Given the description of an element on the screen output the (x, y) to click on. 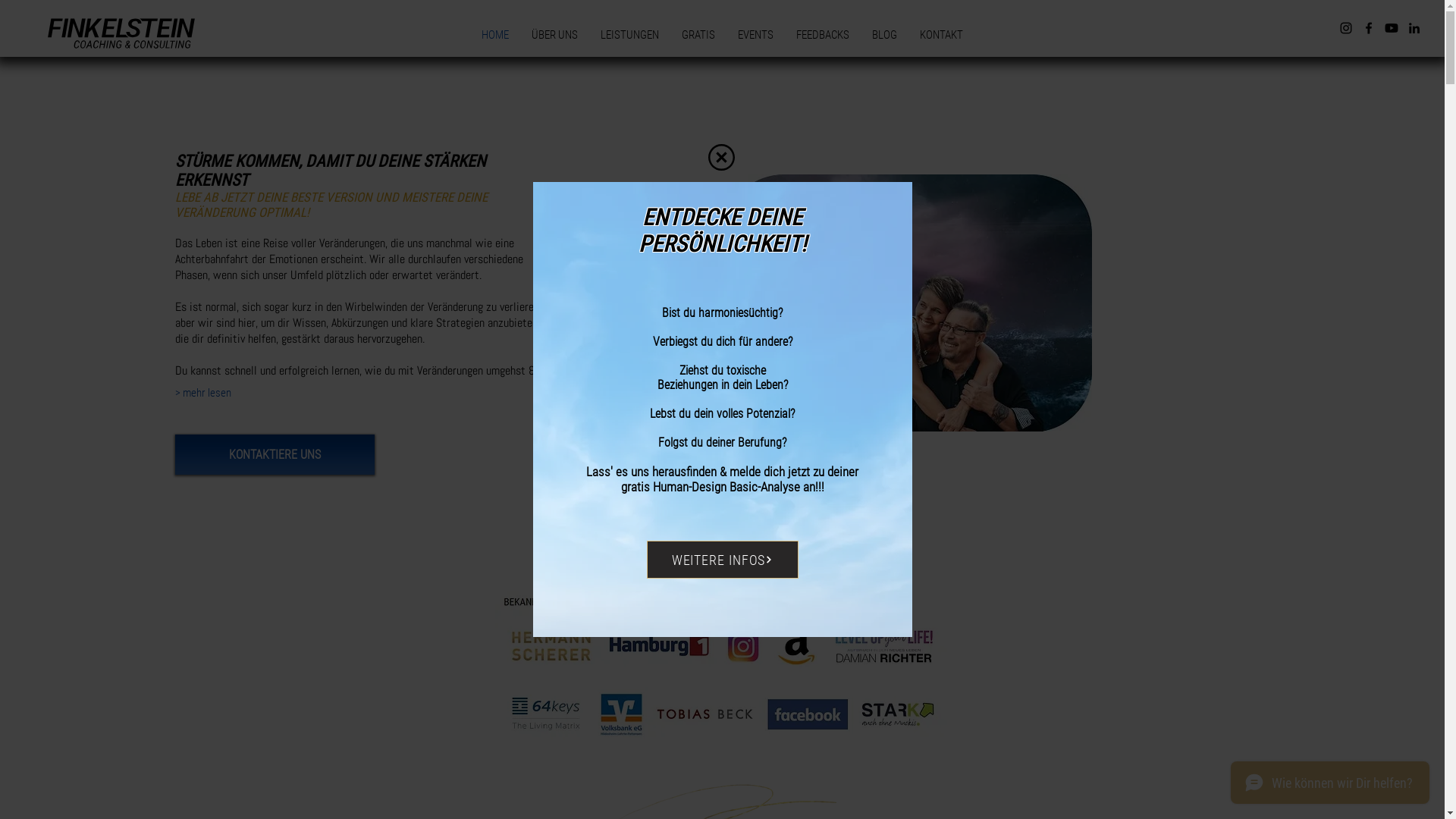
LEISTUNGEN Element type: text (629, 35)
BLOG Element type: text (884, 35)
> mehr lesen Element type: text (203, 392)
FEEDBACKS Element type: text (822, 35)
EVENTS Element type: text (755, 35)
KONTAKTIERE UNS Element type: text (274, 454)
WEITERE INFOS Element type: text (721, 559)
GRATIS Element type: text (698, 35)
HOME Element type: text (495, 35)
KONTAKT Element type: text (941, 35)
